Given the description of an element on the screen output the (x, y) to click on. 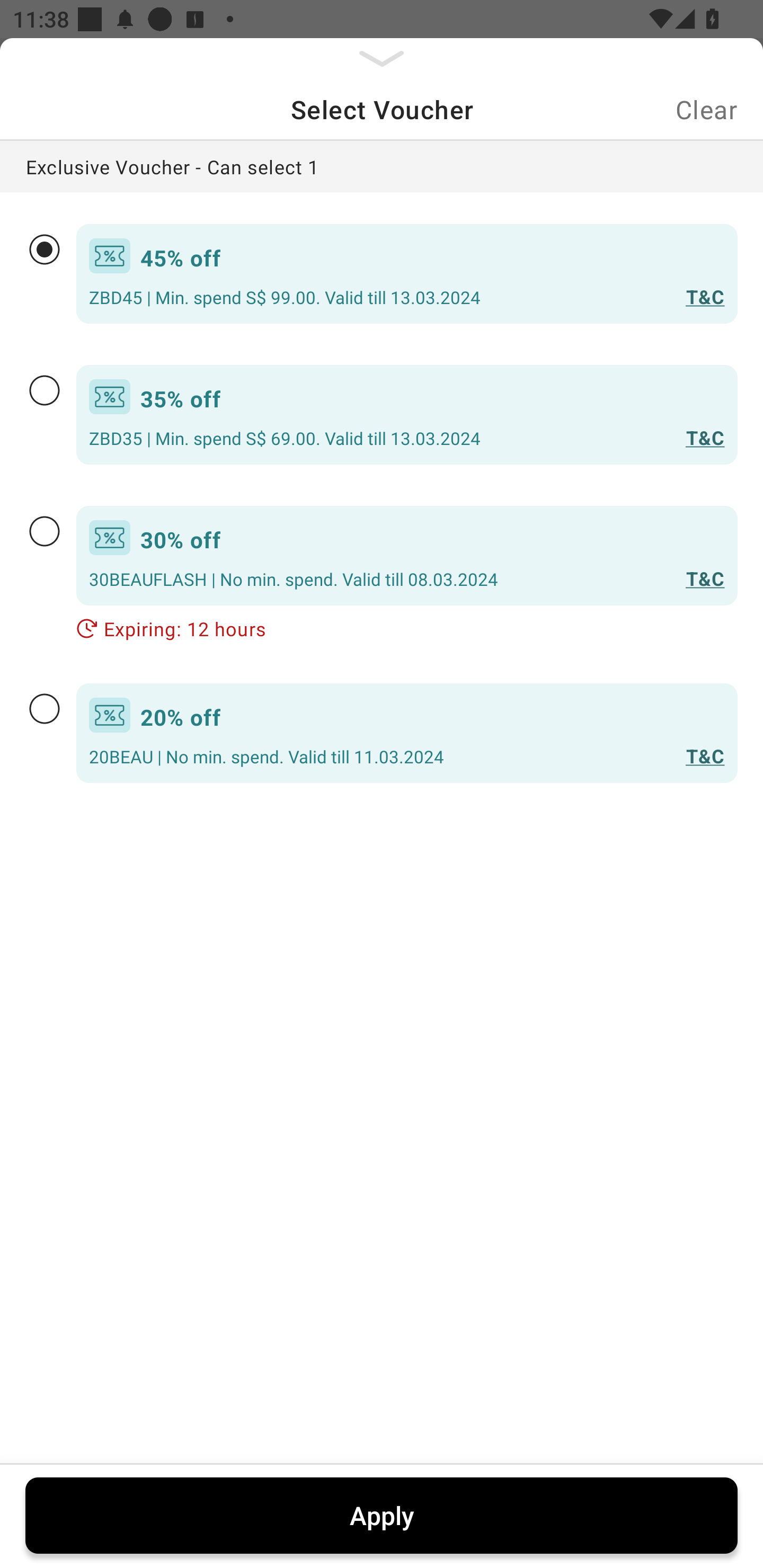
Clear (706, 109)
T&C (701, 296)
T&C (701, 438)
T&C (701, 579)
T&C (701, 756)
Apply (381, 1515)
